Given the description of an element on the screen output the (x, y) to click on. 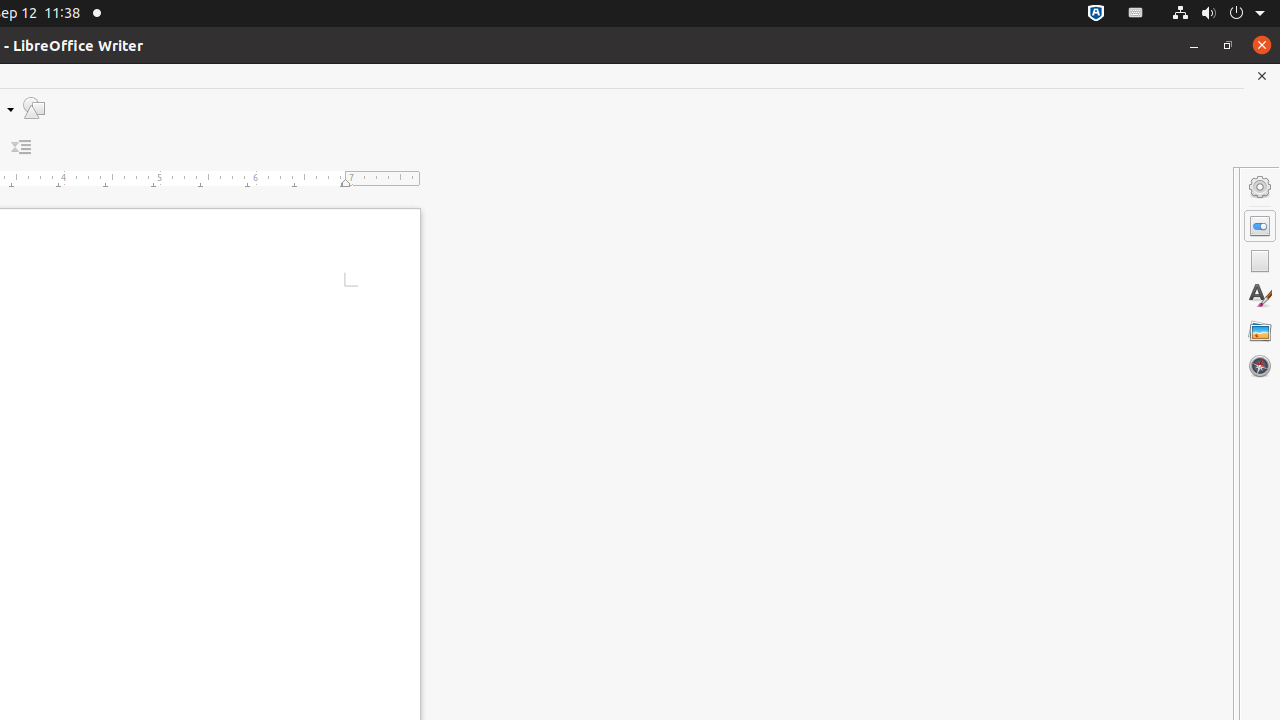
Page Element type: radio-button (1260, 261)
Decrease Element type: push-button (21, 147)
Properties Element type: radio-button (1260, 226)
org.kde.StatusNotifierItem-14077-1 Element type: menu (1136, 13)
Styles Element type: radio-button (1260, 296)
